Given the description of an element on the screen output the (x, y) to click on. 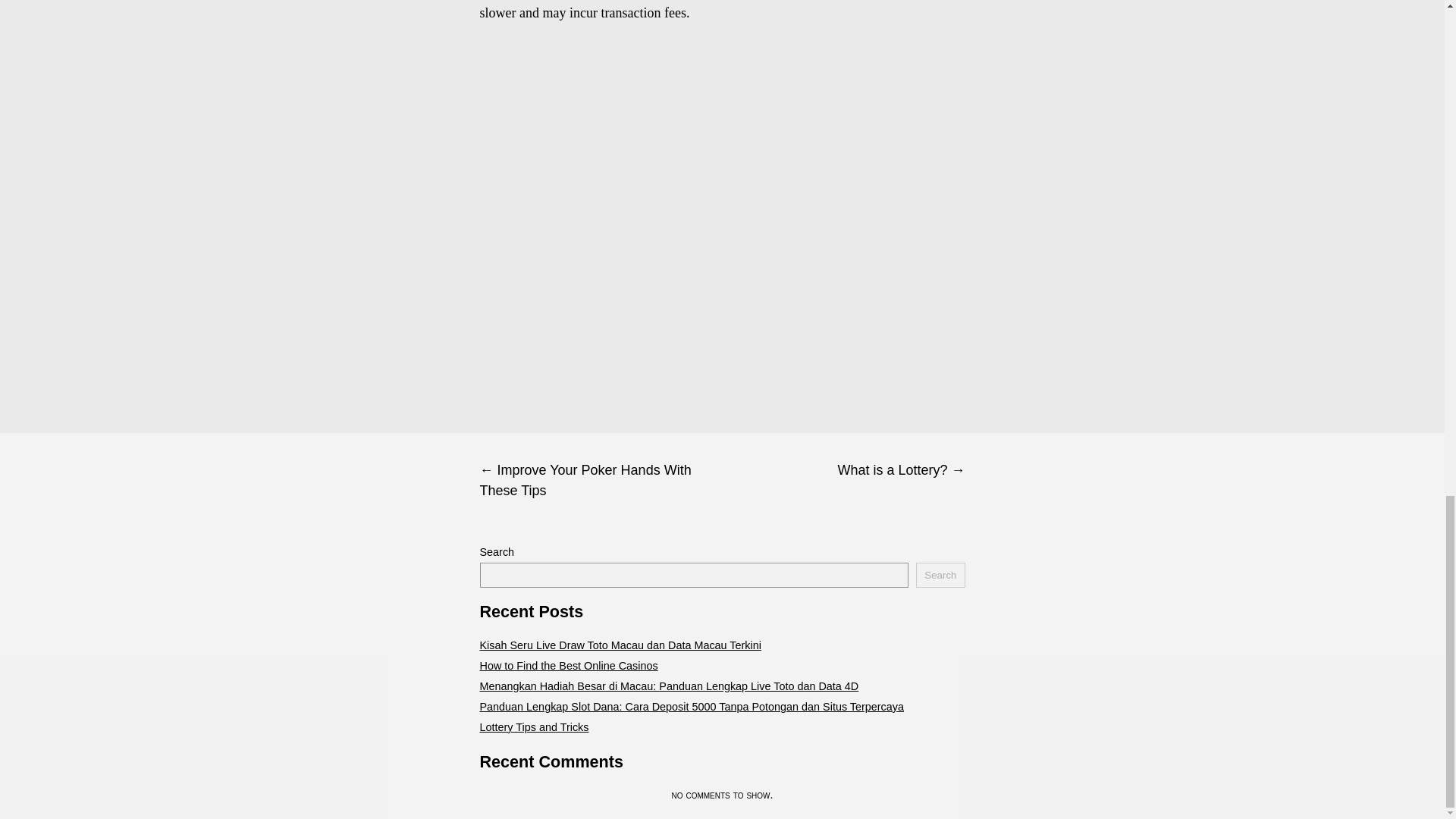
What is a Lottery? (842, 470)
Lottery Tips and Tricks (533, 727)
How to Find the Best Online Casinos (568, 665)
Improve Your Poker Hands With These Tips (600, 480)
Search (939, 575)
Kisah Seru Live Draw Toto Macau dan Data Macau Terkini (619, 645)
